Given the description of an element on the screen output the (x, y) to click on. 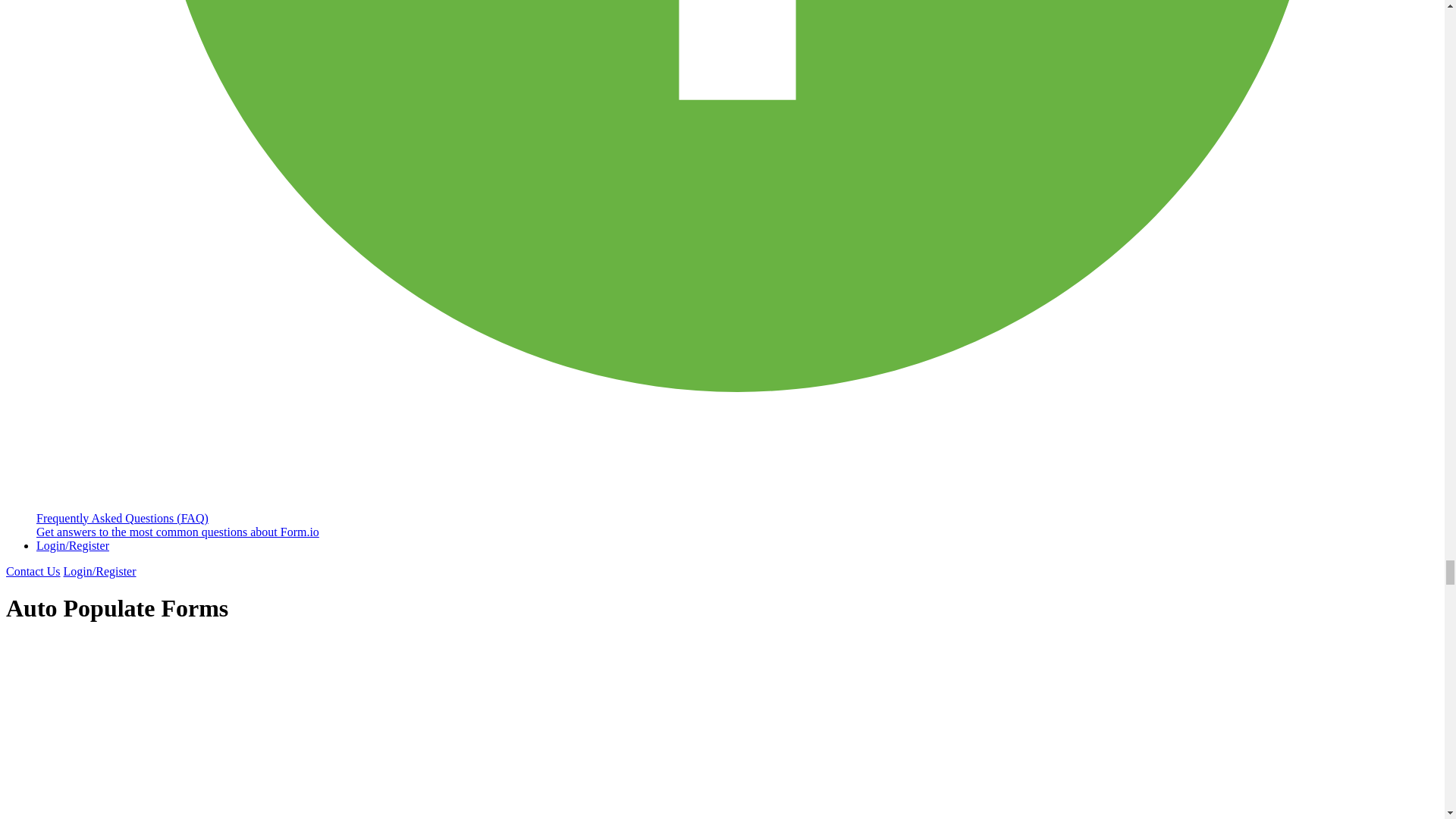
Contact Us (33, 571)
